Given the description of an element on the screen output the (x, y) to click on. 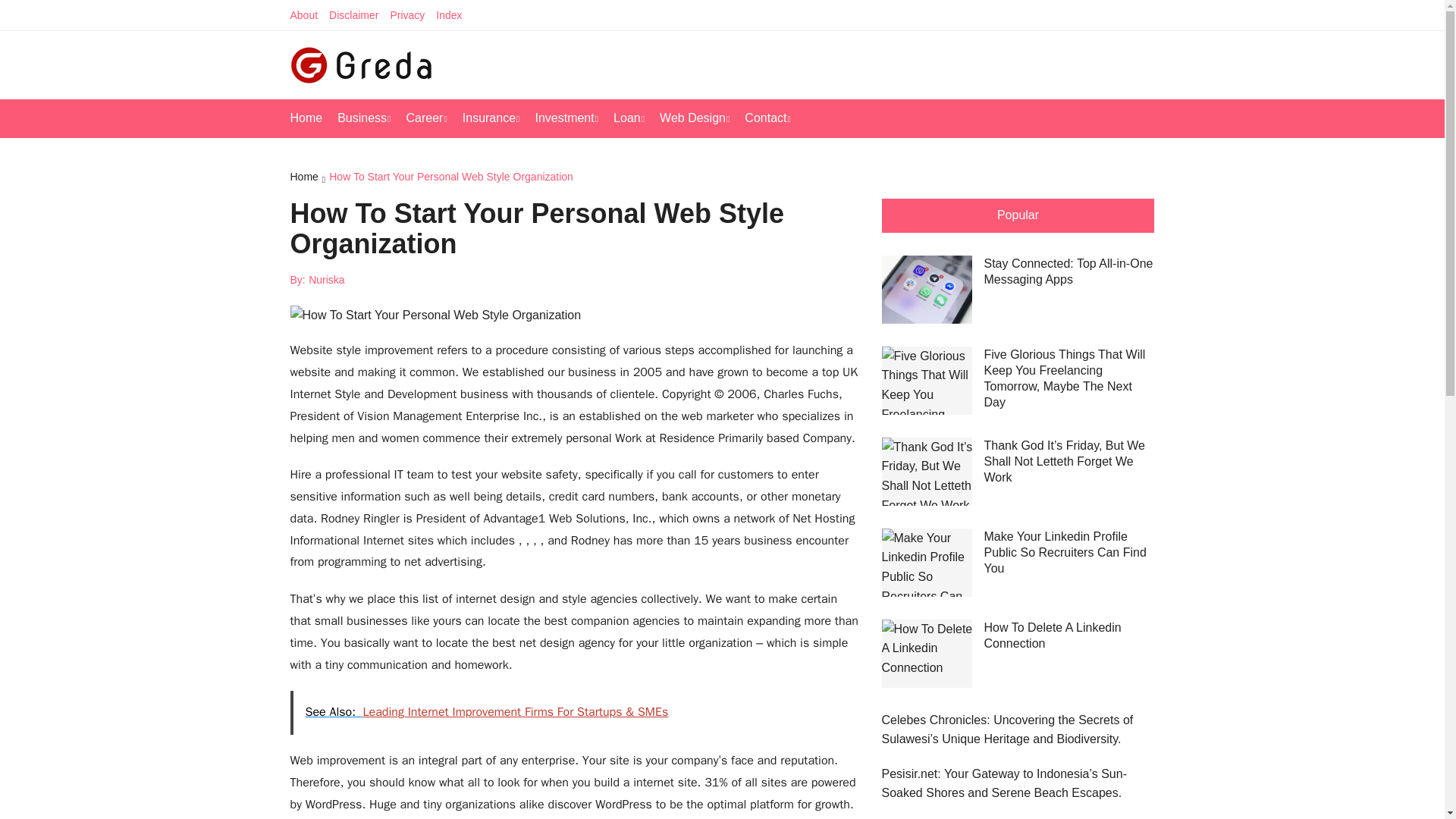
Contact (775, 118)
Web Design (701, 118)
Trading (628, 190)
Home (309, 178)
Crypto (628, 155)
Website Development (753, 155)
Health Insurance (557, 155)
Nuriska (325, 279)
Investment (573, 118)
SN Loichua (753, 226)
Home (313, 118)
Business (371, 118)
Career (434, 118)
How To Start Your Personal Web Style Organization (451, 178)
Marketing (432, 190)
